Given the description of an element on the screen output the (x, y) to click on. 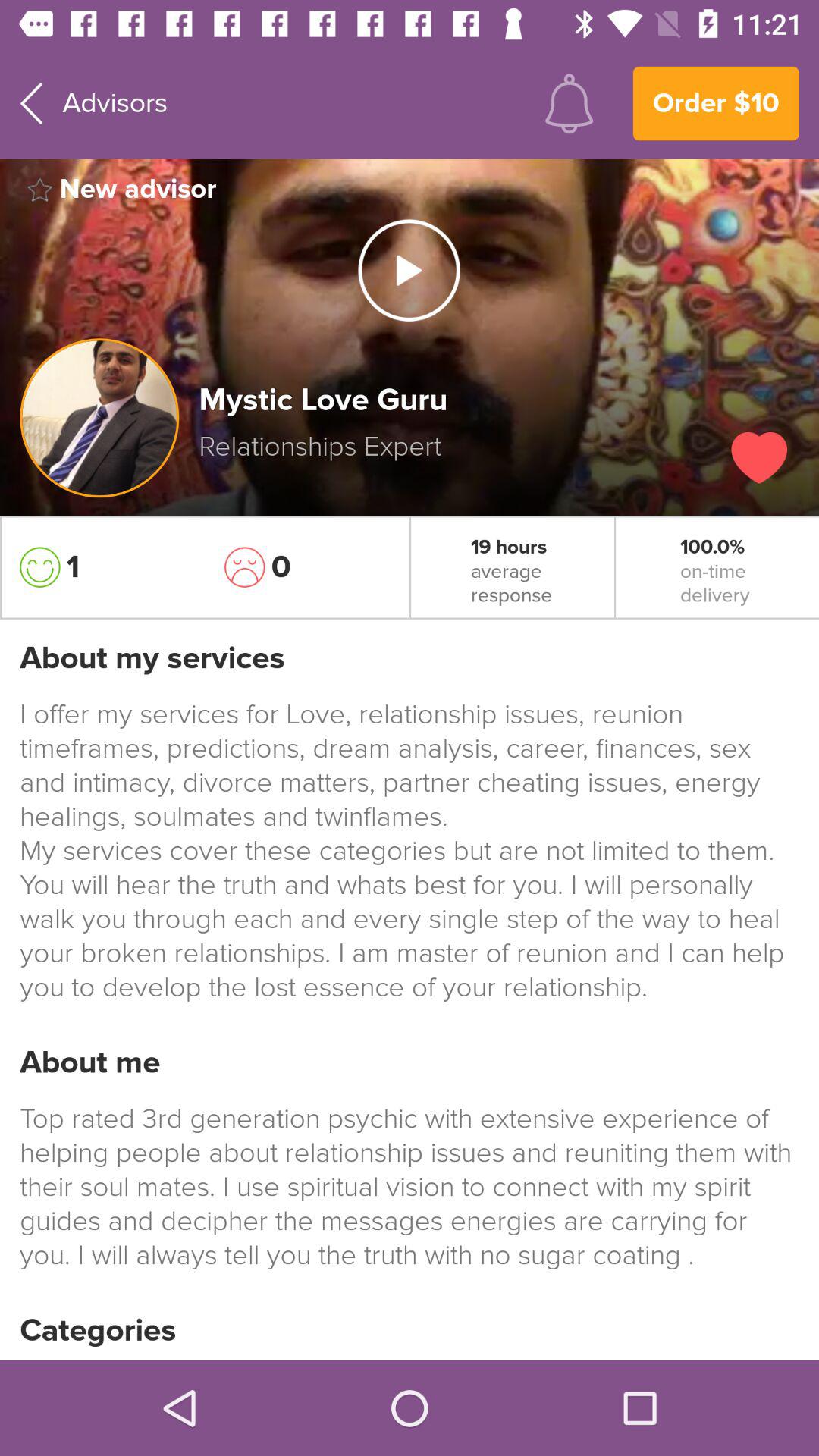
favorite this service (759, 457)
